Given the description of an element on the screen output the (x, y) to click on. 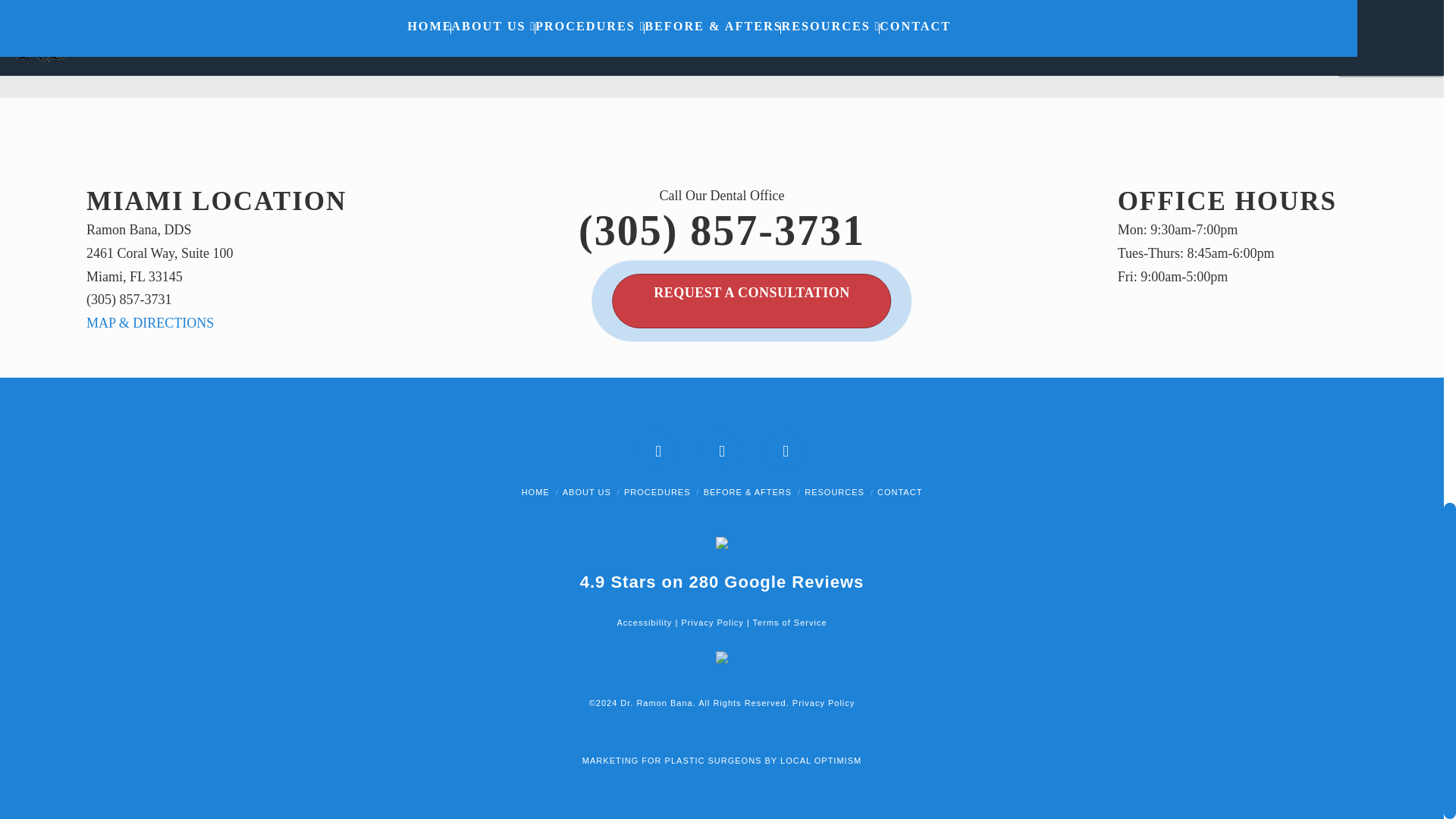
Instagram (785, 450)
Facebook (657, 450)
YouTube (721, 450)
